Given the description of an element on the screen output the (x, y) to click on. 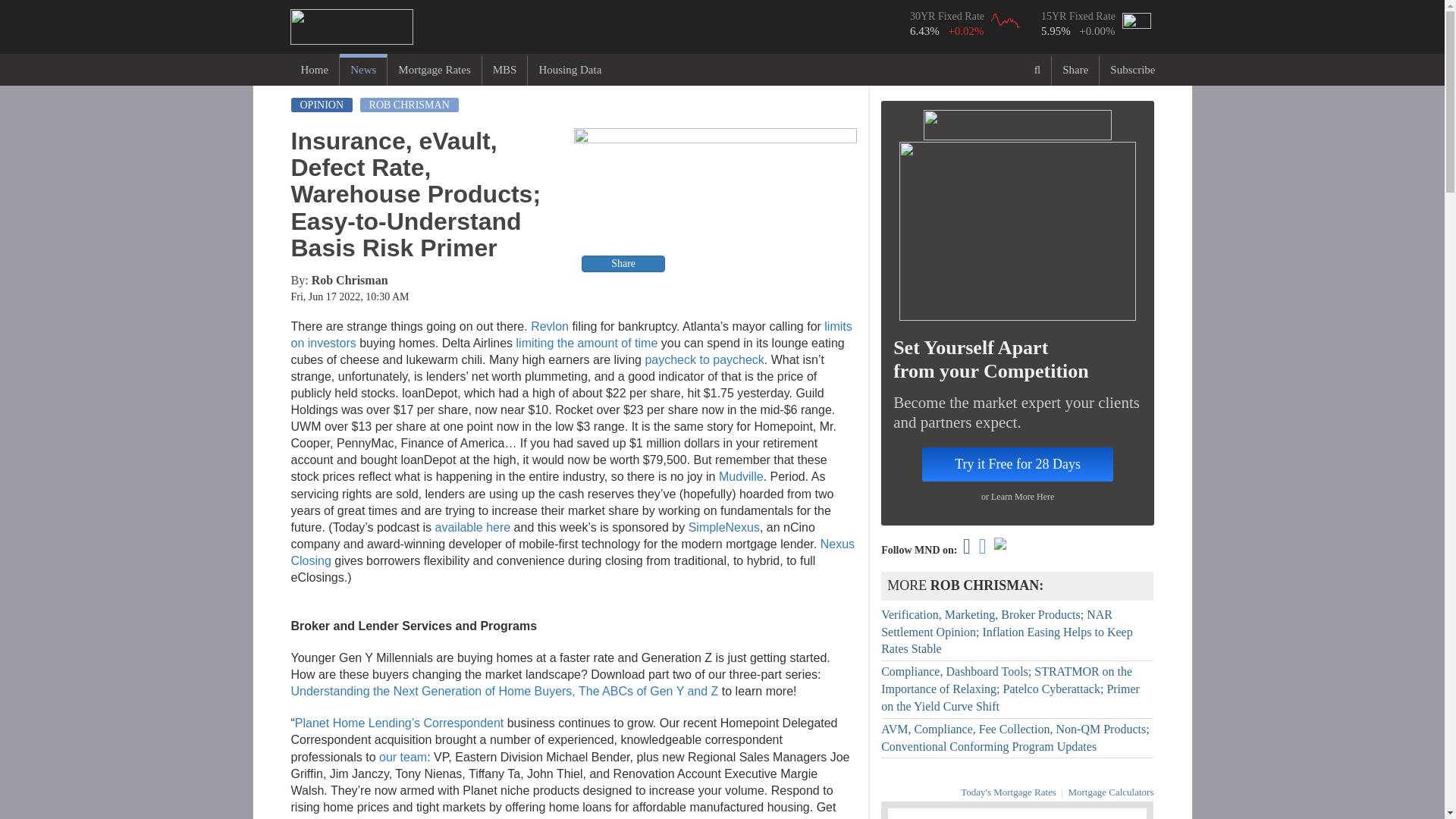
Mortgage Rates (434, 69)
Preview (715, 201)
News (363, 69)
Home (314, 69)
